Given the description of an element on the screen output the (x, y) to click on. 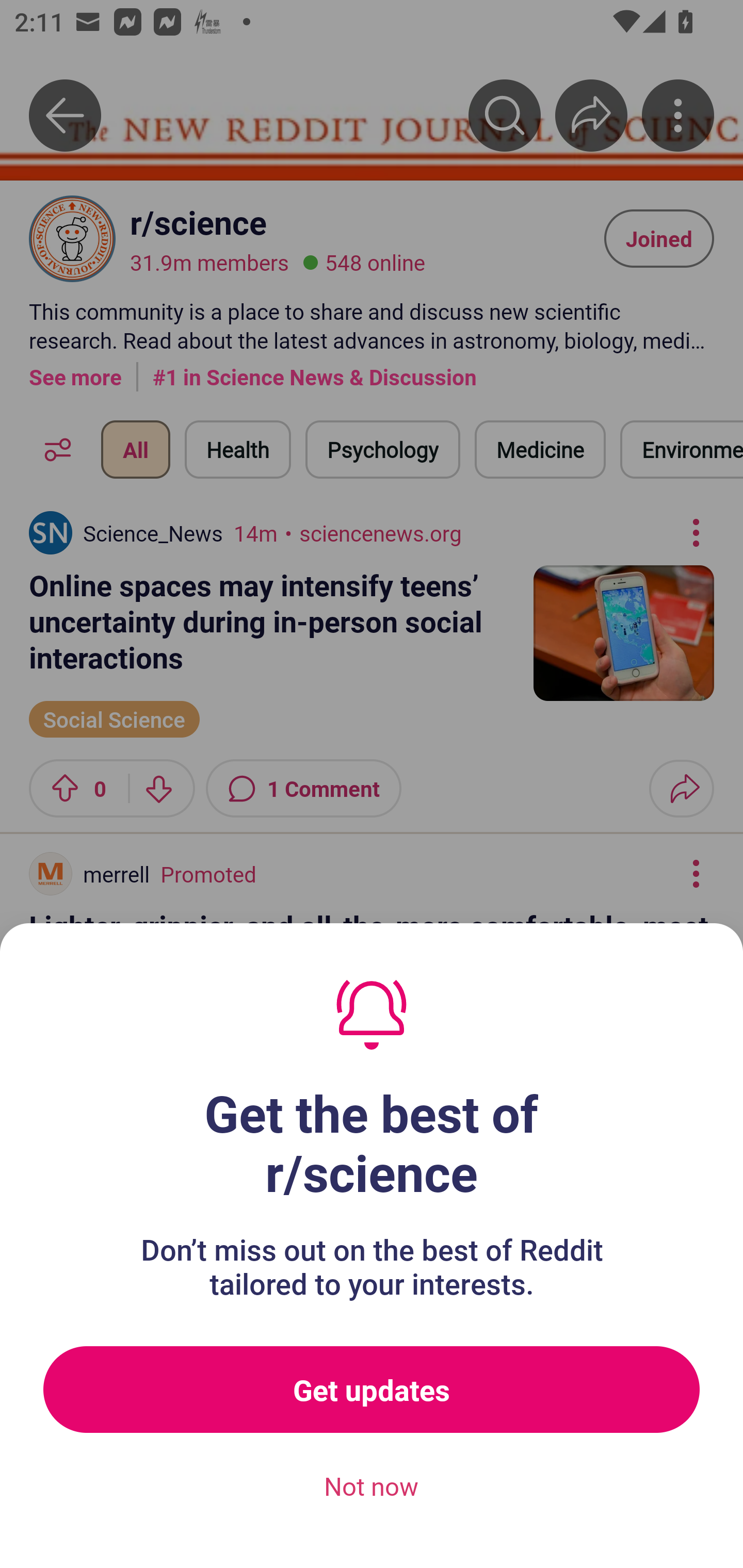
Get updates (371, 1389)
Not now (371, 1486)
